Given the description of an element on the screen output the (x, y) to click on. 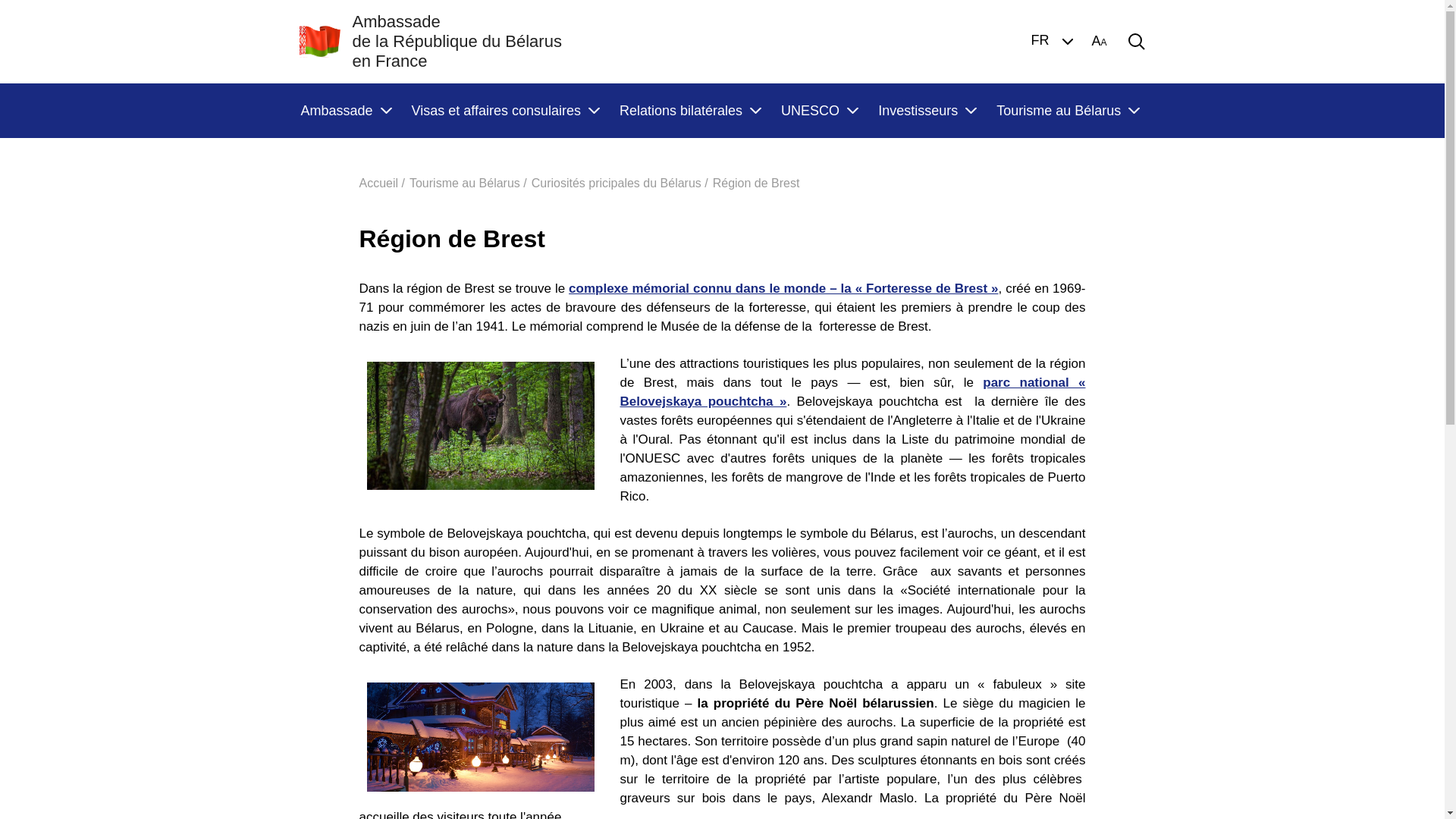
AA Element type: text (1098, 41)
UNESCO Element type: text (818, 110)
Ambassade Element type: text (344, 110)
Investisseurs Element type: text (926, 110)
Accueil / Element type: text (381, 182)
Visas et affaires consulaires Element type: text (504, 110)
